Given the description of an element on the screen output the (x, y) to click on. 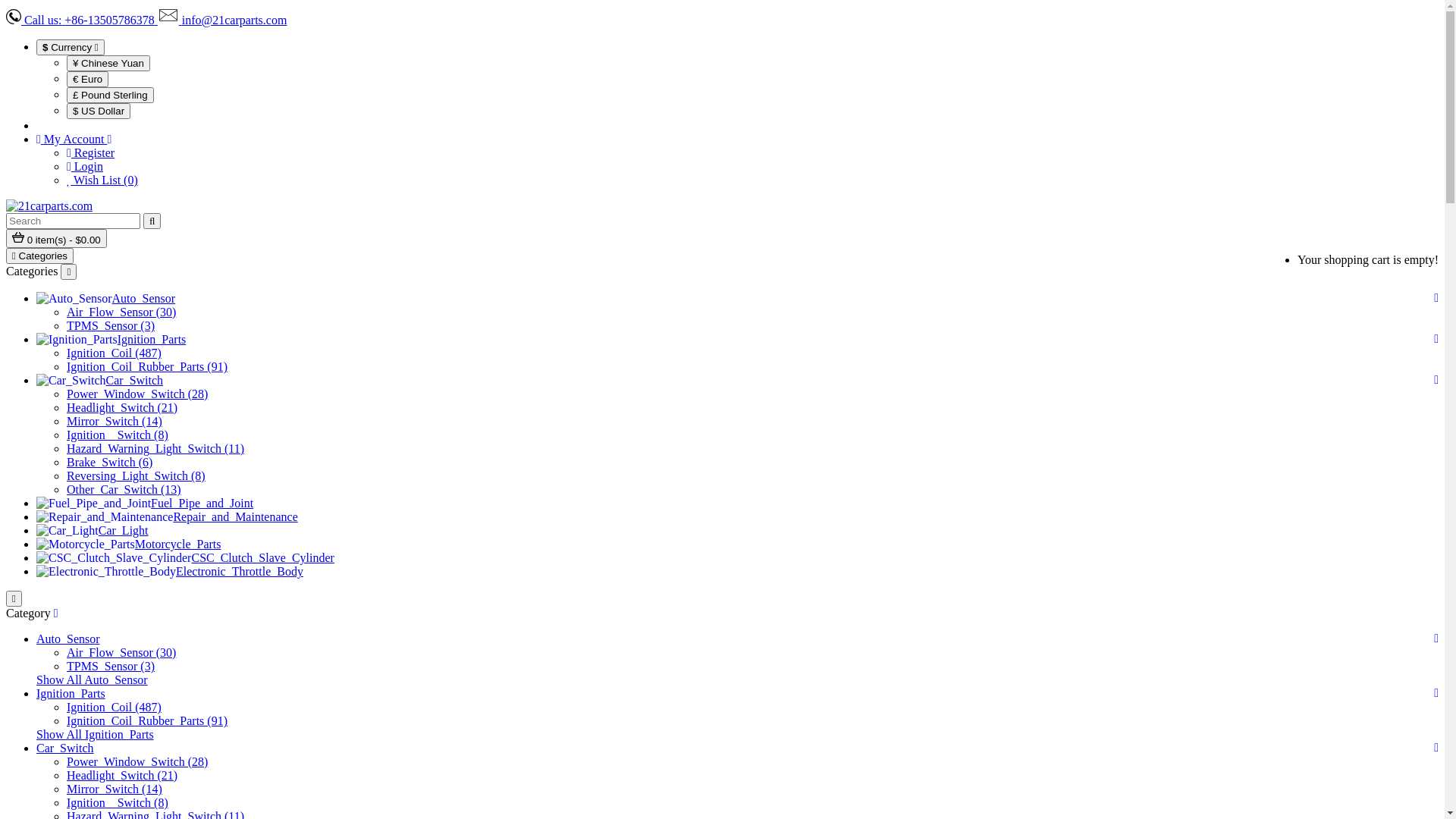
Wish List (0) Element type: text (102, 179)
Hazard_Warning_Light_Switch (11) Element type: text (155, 448)
0 item(s) - $0.00 Element type: text (56, 238)
21carparts.com Element type: hover (49, 206)
Brake_Switch (6) Element type: text (109, 461)
Power_Window_Switch (28) Element type: text (136, 761)
info@21carparts.com Element type: text (222, 19)
Electronic_Throttle_Body Element type: text (239, 570)
Car_Switch Element type: text (65, 747)
Motorcycle_Parts Element type: text (177, 543)
$ US Dollar Element type: text (98, 111)
Power_Window_Switch (28) Element type: text (136, 393)
Other_Car_Switch (13) Element type: text (123, 489)
Air_Flow_Sensor (30) Element type: text (120, 311)
Ignition_Coil (487) Element type: text (113, 706)
Call us: +86-13505786378 Element type: text (81, 19)
Ignition_Coil (487) Element type: text (113, 352)
$ Currency  Element type: text (70, 47)
Ignition_Parts Element type: text (151, 338)
Car_Light Element type: text (123, 530)
Show All Auto_Sensor Element type: text (91, 679)
Categories Element type: text (39, 255)
Ignition__Switch (8) Element type: text (117, 434)
Mirror_Switch (14) Element type: text (114, 420)
Car_Switch Element type: text (134, 379)
Reversing_Light_Switch (8) Element type: text (135, 475)
TPMS_Sensor (3) Element type: text (110, 665)
Login Element type: text (84, 166)
Auto_Sensor Element type: text (68, 638)
Show All Ignition_Parts Element type: text (94, 734)
Register Element type: text (90, 152)
My Account  Element type: text (73, 138)
Ignition_Coil_Rubber_Parts (91) Element type: text (146, 366)
Headlight_Switch (21) Element type: text (121, 407)
Repair_and_Maintenance Element type: text (234, 516)
Air_Flow_Sensor (30) Element type: text (120, 652)
Fuel_Pipe_and_Joint Element type: text (201, 502)
Ignition_Coil_Rubber_Parts (91) Element type: text (146, 720)
Headlight_Switch (21) Element type: text (121, 774)
CSC_Clutch_Slave_Cylinder Element type: text (262, 557)
Ignition__Switch (8) Element type: text (117, 802)
Ignition_Parts Element type: text (70, 693)
Mirror_Switch (14) Element type: text (114, 788)
Auto_Sensor Element type: text (143, 297)
TPMS_Sensor (3) Element type: text (110, 325)
